Given the description of an element on the screen output the (x, y) to click on. 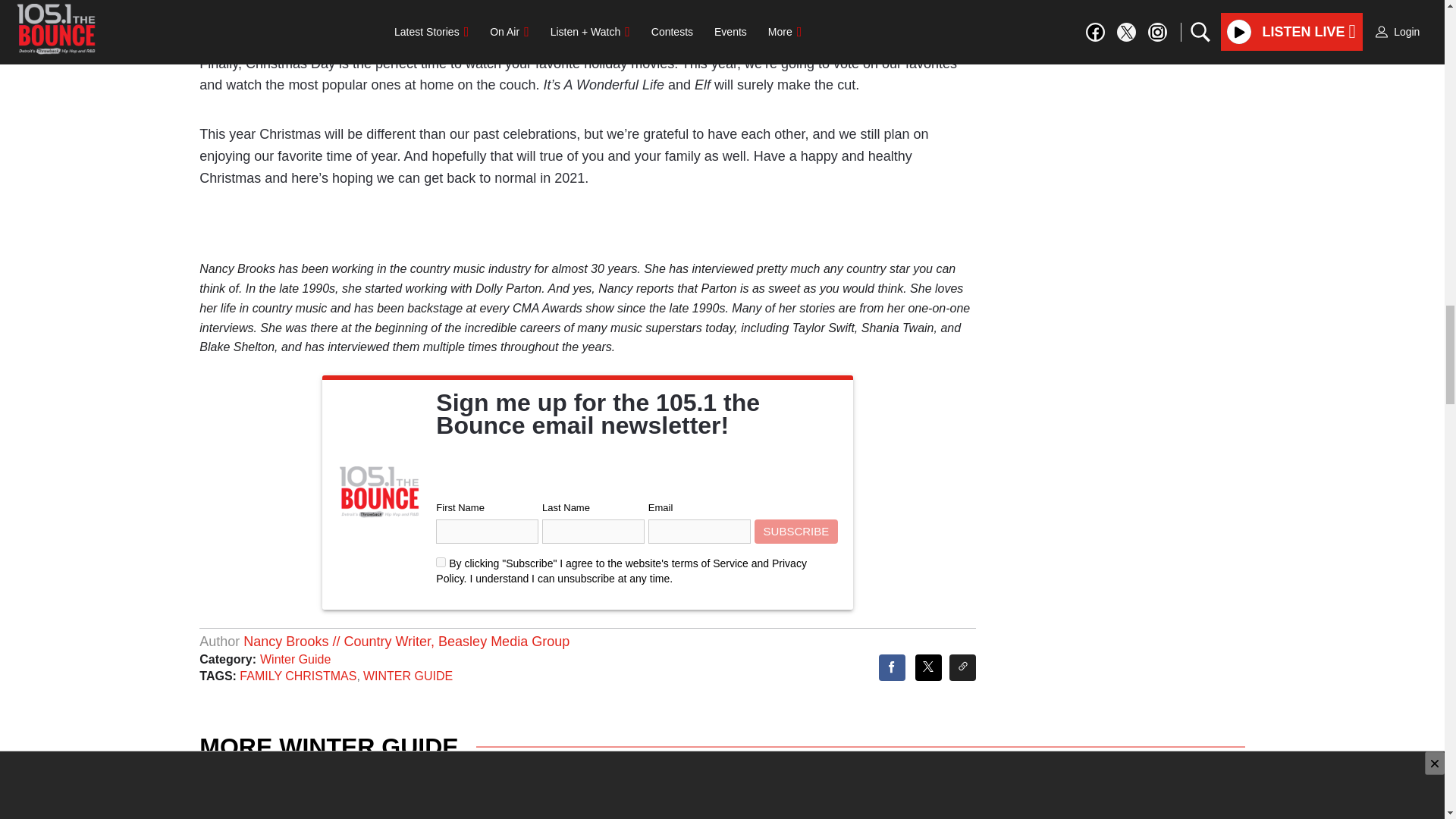
on (440, 562)
